Given the description of an element on the screen output the (x, y) to click on. 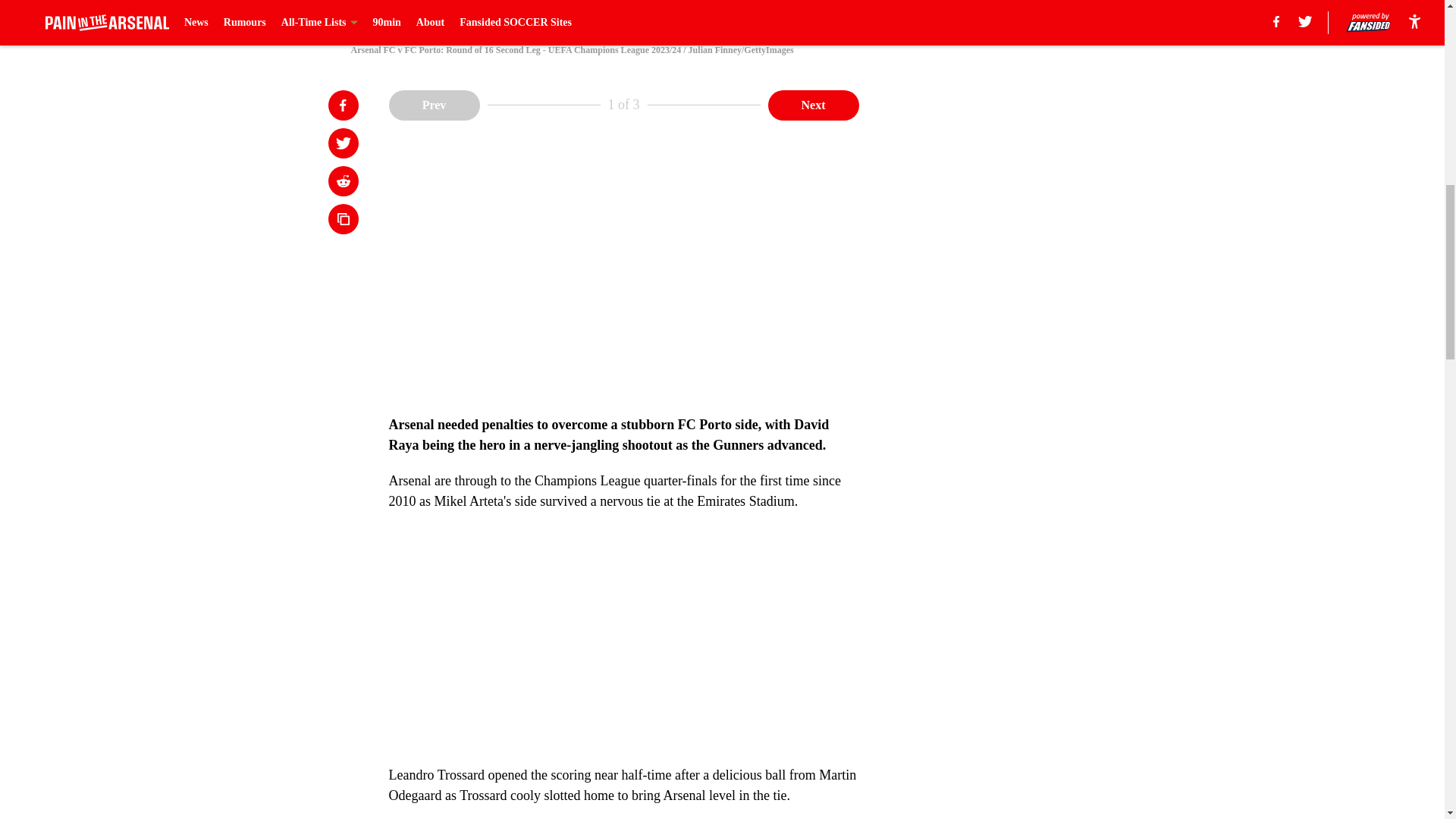
Prev (433, 104)
Next (813, 104)
